Given the description of an element on the screen output the (x, y) to click on. 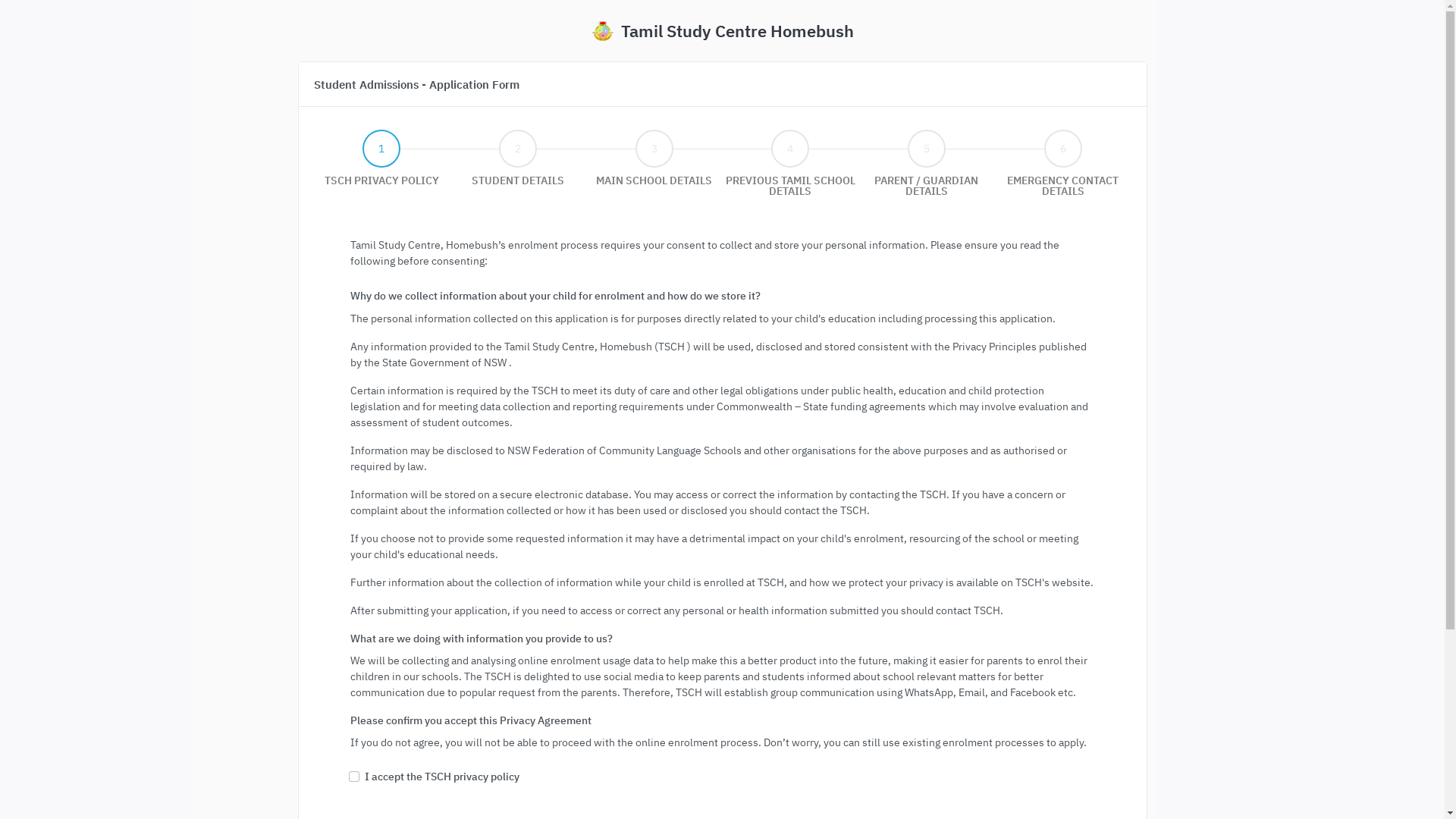
PREVIOUS TAMIL SCHOOL DETAILS
4 Element type: text (789, 190)
STUDENT DETAILS
2 Element type: text (517, 180)
TSCH PRIVACY POLICY
1 Element type: text (381, 180)
EMERGENCY CONTACT DETAILS
6 Element type: text (1062, 190)
MAIN SCHOOL DETAILS
3 Element type: text (654, 180)
PARENT / GUARDIAN DETAILS
5 Element type: text (926, 190)
Tamil Study Centre Homebush Element type: text (722, 29)
